Given the description of an element on the screen output the (x, y) to click on. 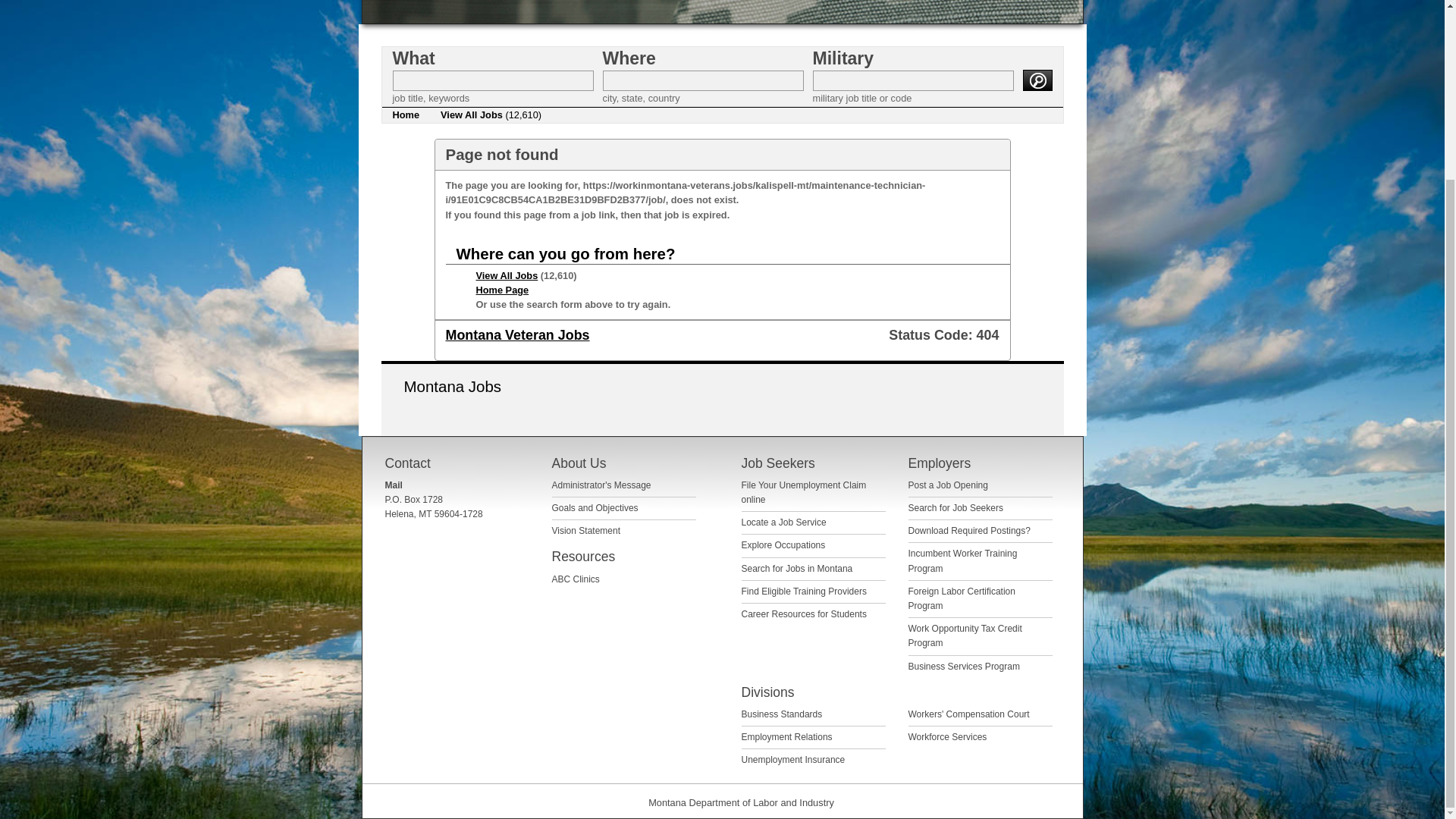
Business Standards (781, 714)
Unemployment Insurance (793, 759)
Find Eligible Training Providers (803, 591)
Foreign Labor Certification Program (961, 598)
search (1036, 79)
Explore Occupations (783, 544)
Employment Relations (786, 737)
File Your Unemployment Claim online (803, 492)
Search for Jobs in Montana (797, 568)
View All Jobs (507, 275)
